Given the description of an element on the screen output the (x, y) to click on. 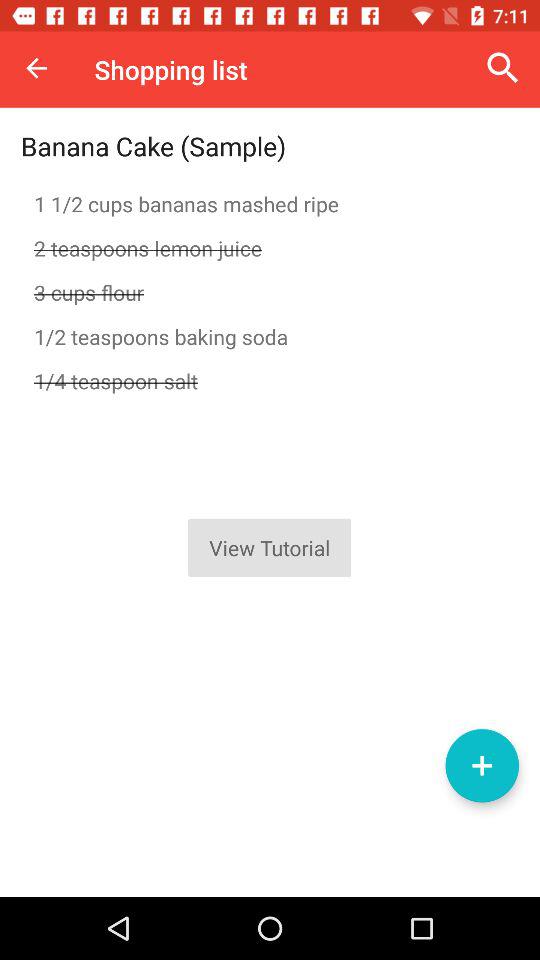
click item at the top right corner (503, 67)
